Given the description of an element on the screen output the (x, y) to click on. 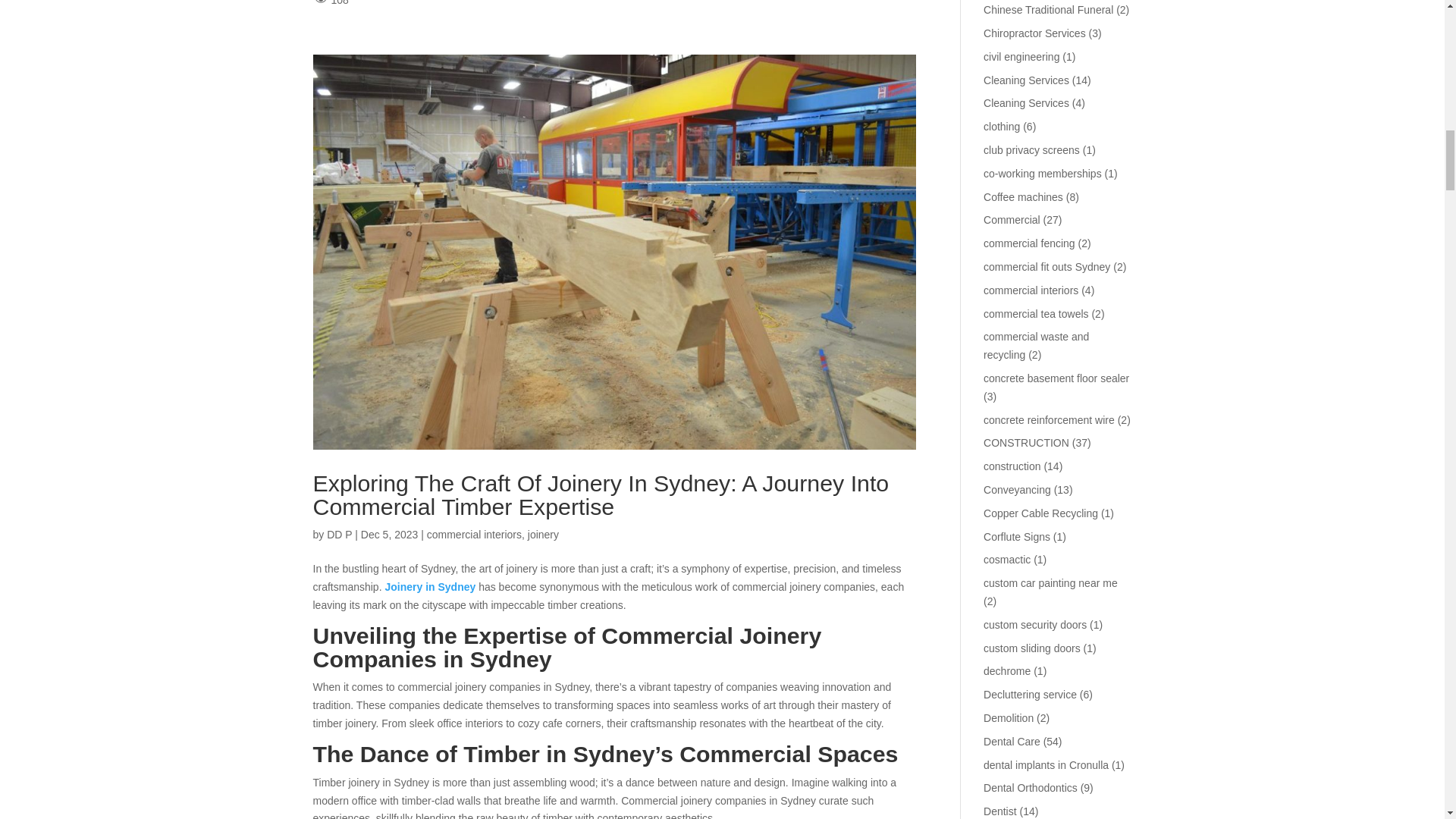
DD P (339, 534)
Posts by DD P (339, 534)
commercial interiors (473, 534)
Joinery in Sydney (430, 586)
joinery (543, 534)
